Given the description of an element on the screen output the (x, y) to click on. 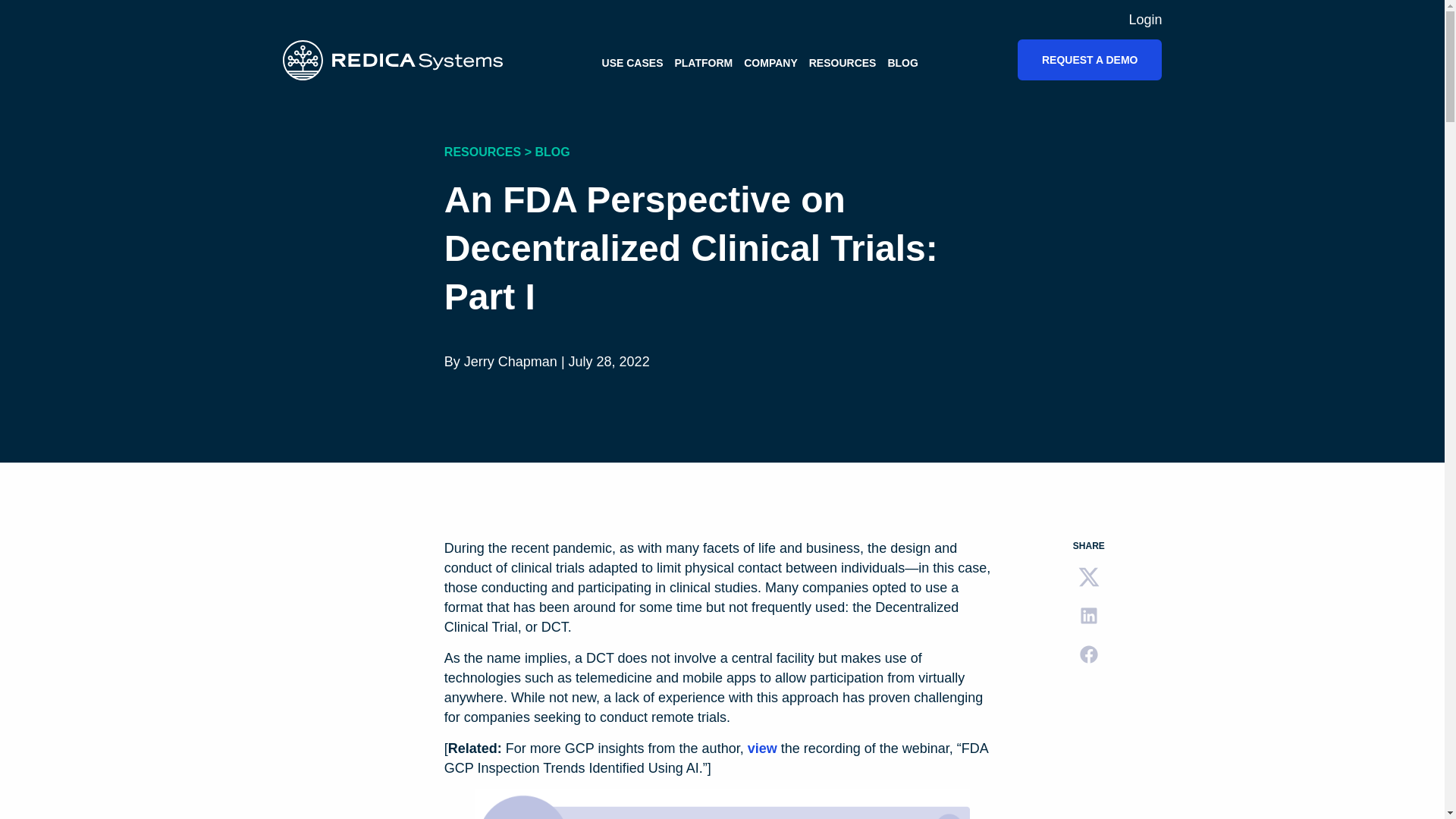
USE CASES (632, 62)
Login (1144, 19)
Redica Systems (392, 59)
PLATFORM (703, 61)
view (762, 748)
COMPANY (770, 62)
BLOG (901, 61)
REQUEST A DEMO (1089, 59)
RESOURCES (842, 62)
